Given the description of an element on the screen output the (x, y) to click on. 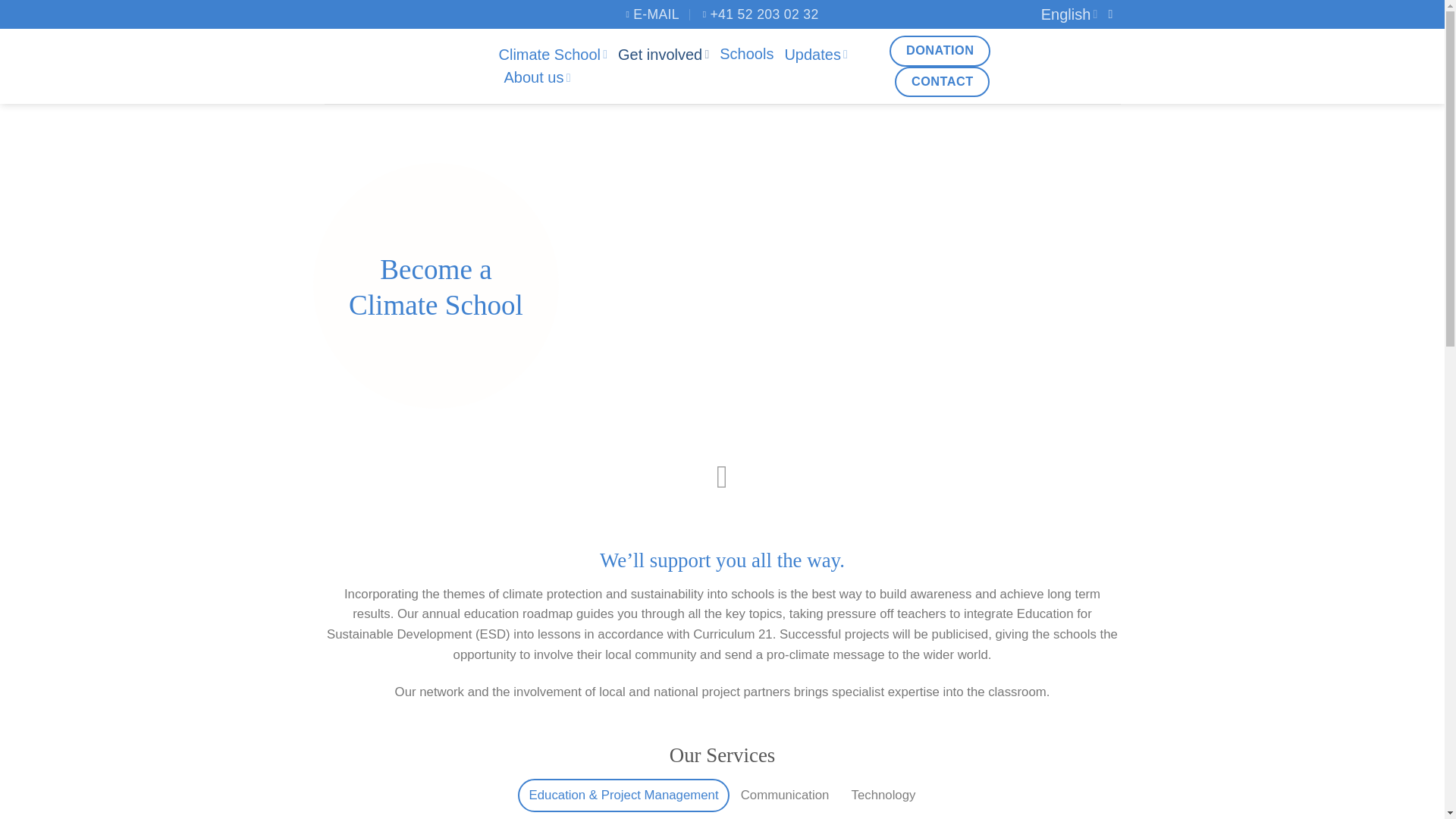
Climate School (553, 54)
E-MAIL (652, 14)
Klimaschule (400, 66)
Schools (746, 53)
English (1069, 14)
Updates (815, 54)
About us (536, 77)
Get involved (663, 54)
